Given the description of an element on the screen output the (x, y) to click on. 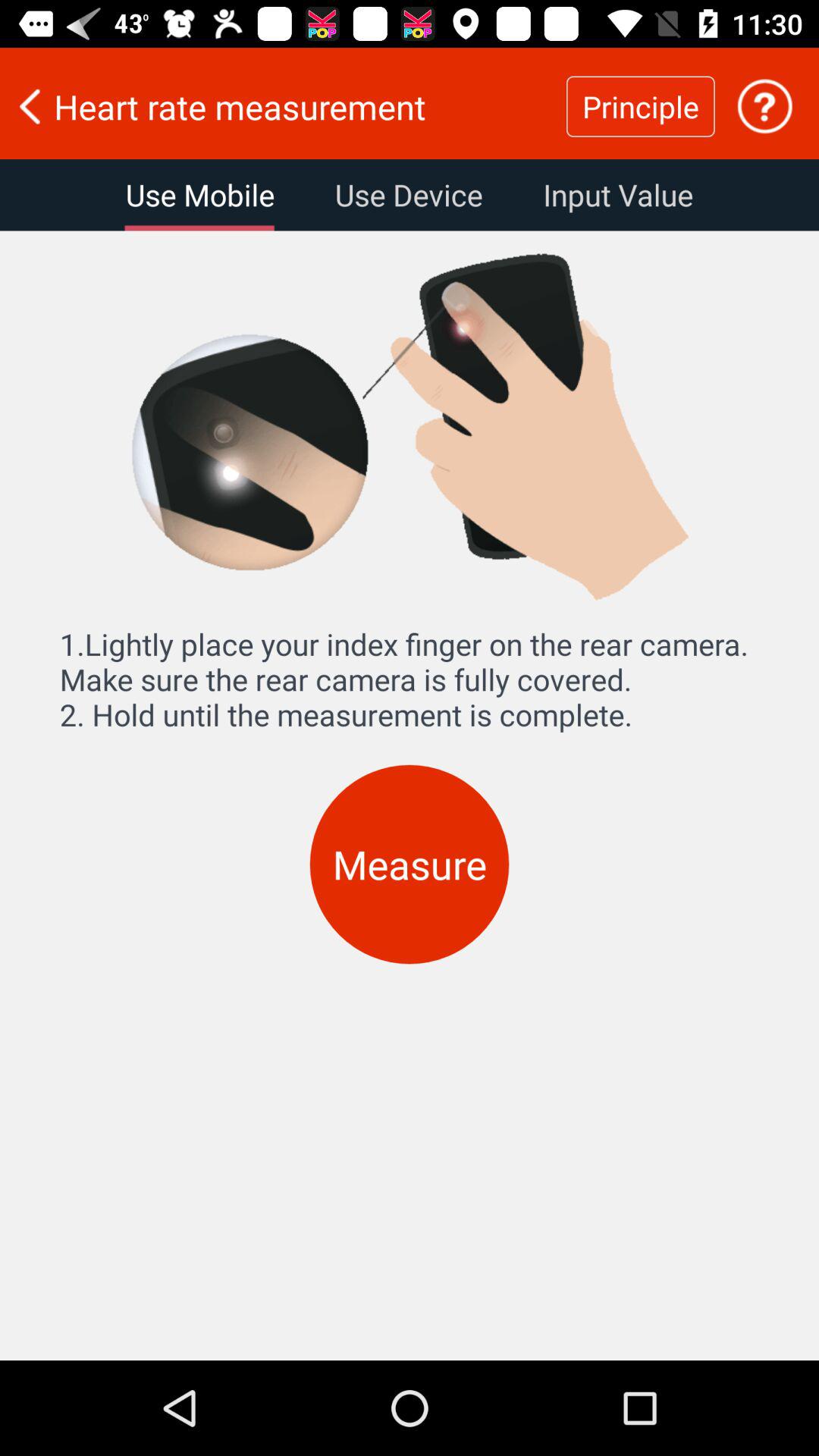
press item below heart rate measurement (408, 194)
